Given the description of an element on the screen output the (x, y) to click on. 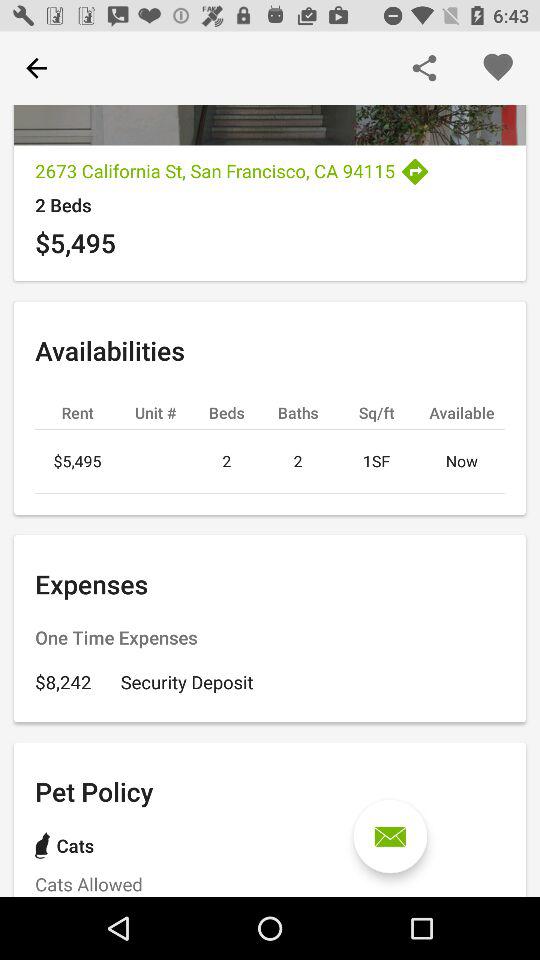
like this listing (497, 68)
